Given the description of an element on the screen output the (x, y) to click on. 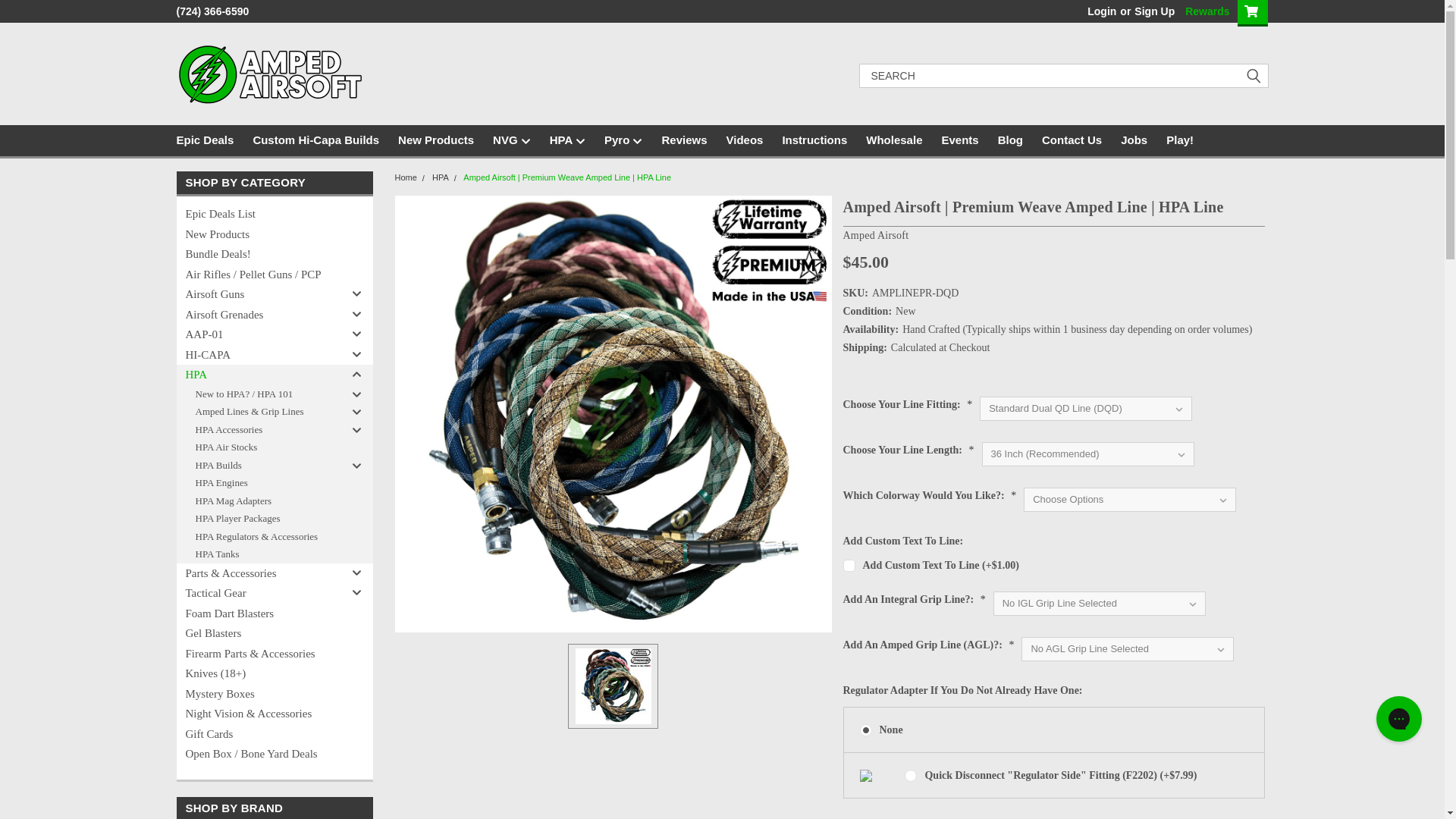
Sign Up (1152, 11)
Rewards (1202, 11)
Login (1101, 11)
Amped Airsoft (270, 75)
submit (1252, 75)
